Given the description of an element on the screen output the (x, y) to click on. 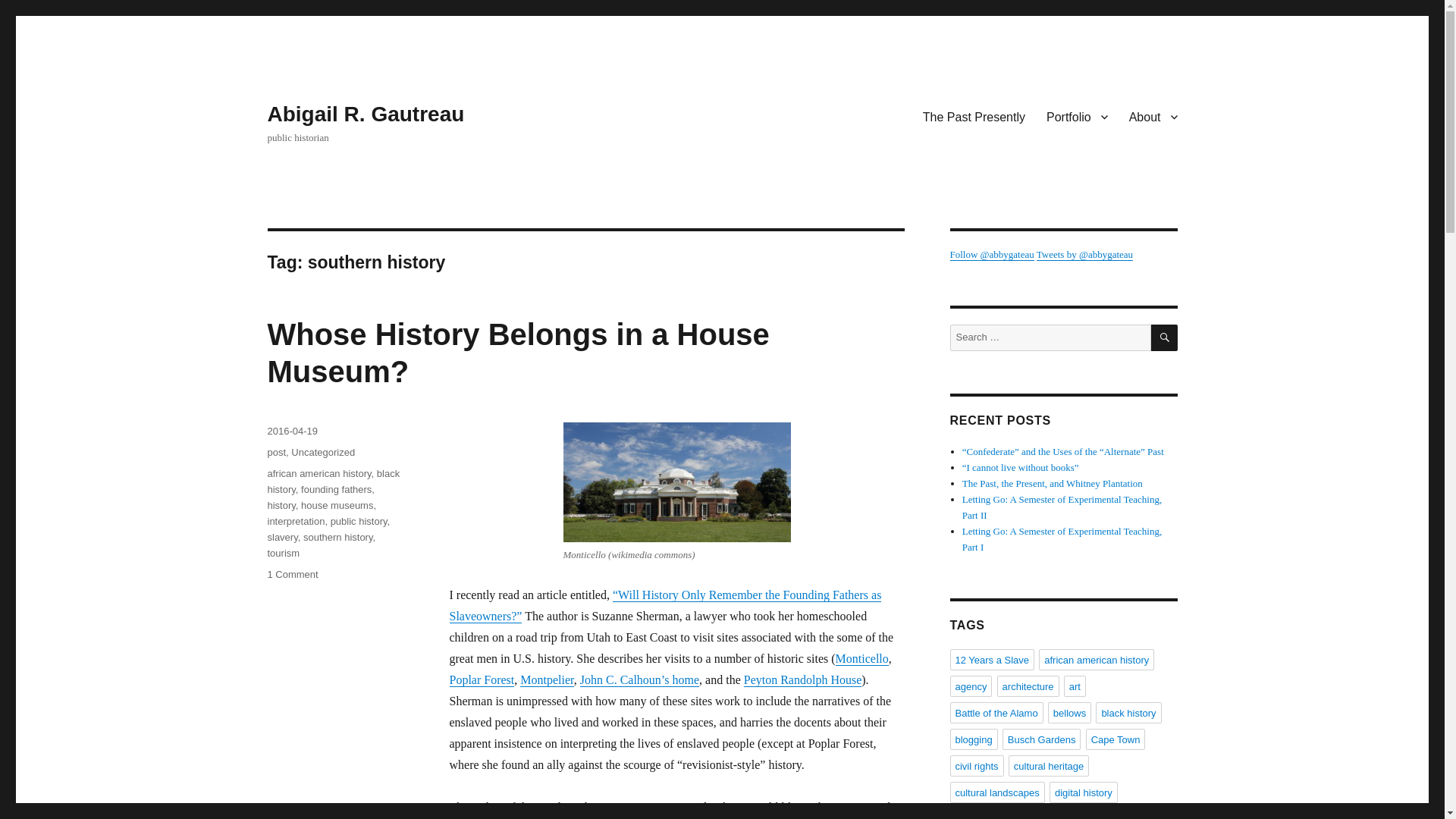
Peyton Randolph House (802, 679)
post (275, 451)
Whose History Belongs in a House Museum? (517, 352)
Portfolio (1076, 116)
Monticello (861, 658)
Poplar Forest (480, 679)
2016-04-19 (291, 430)
Abigail R. Gautreau (365, 114)
The Past Presently (973, 116)
About (1153, 116)
